Given the description of an element on the screen output the (x, y) to click on. 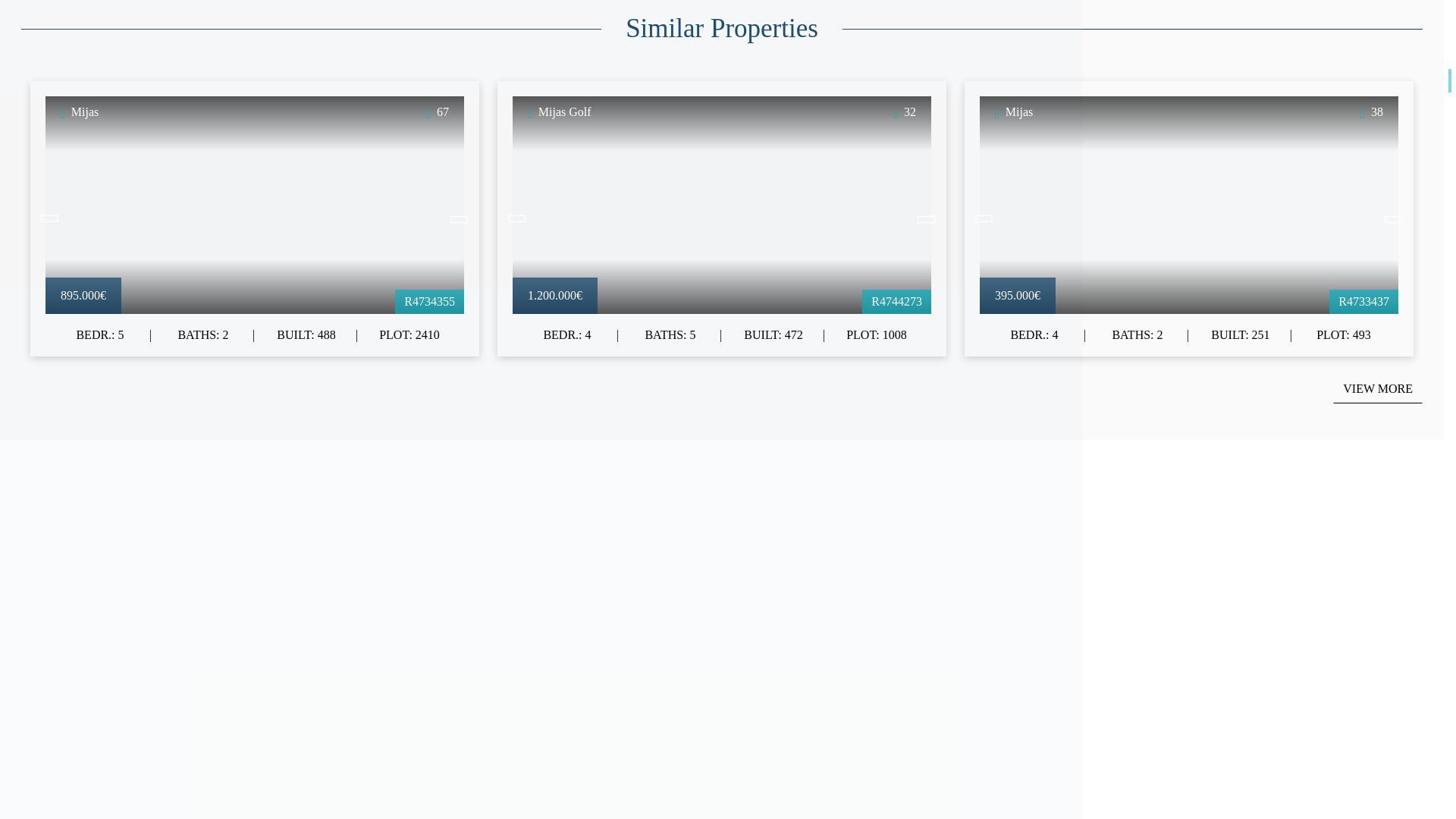
VIEW MORE (1377, 388)
